Given the description of an element on the screen output the (x, y) to click on. 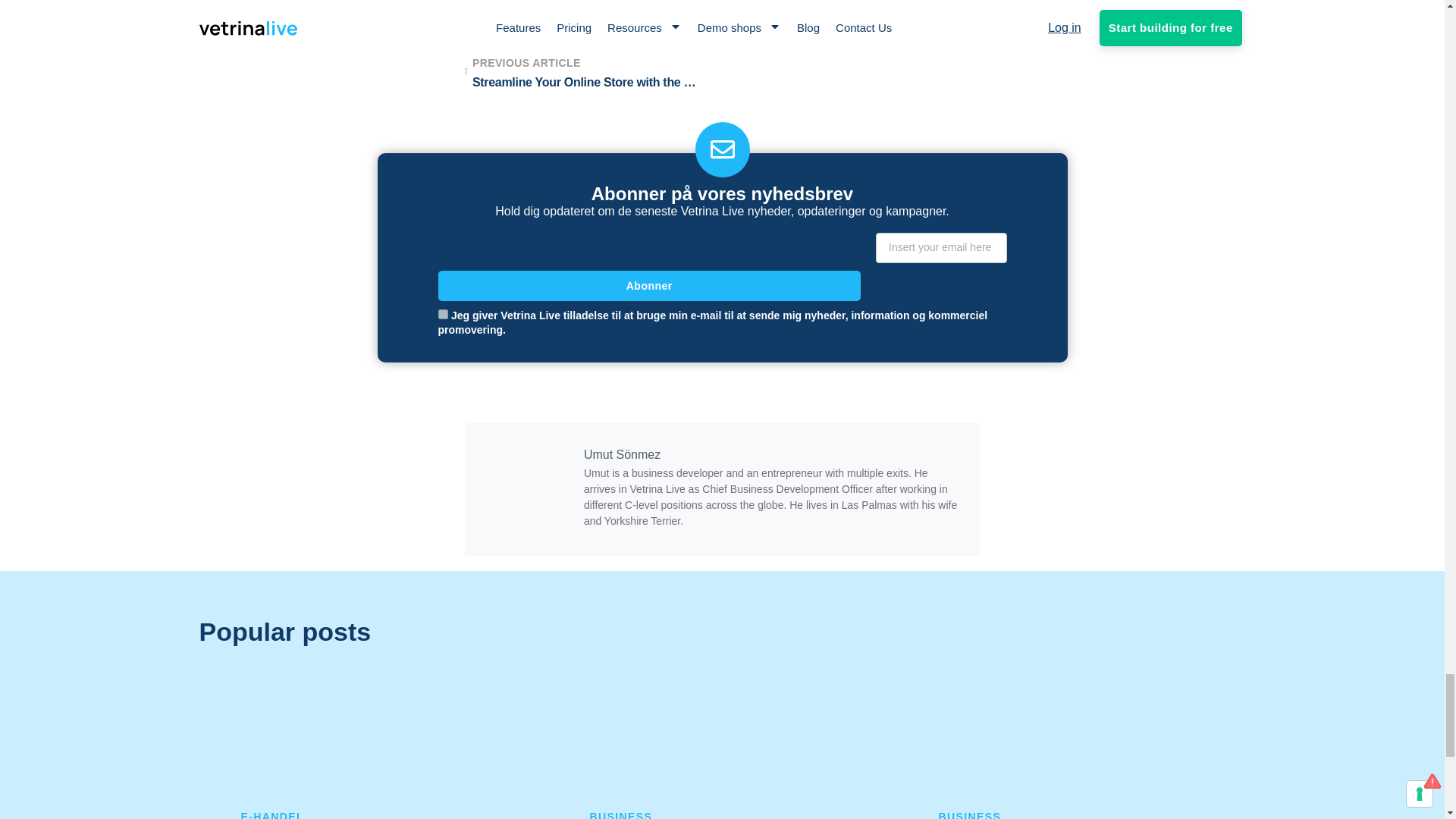
on (443, 314)
